Given the description of an element on the screen output the (x, y) to click on. 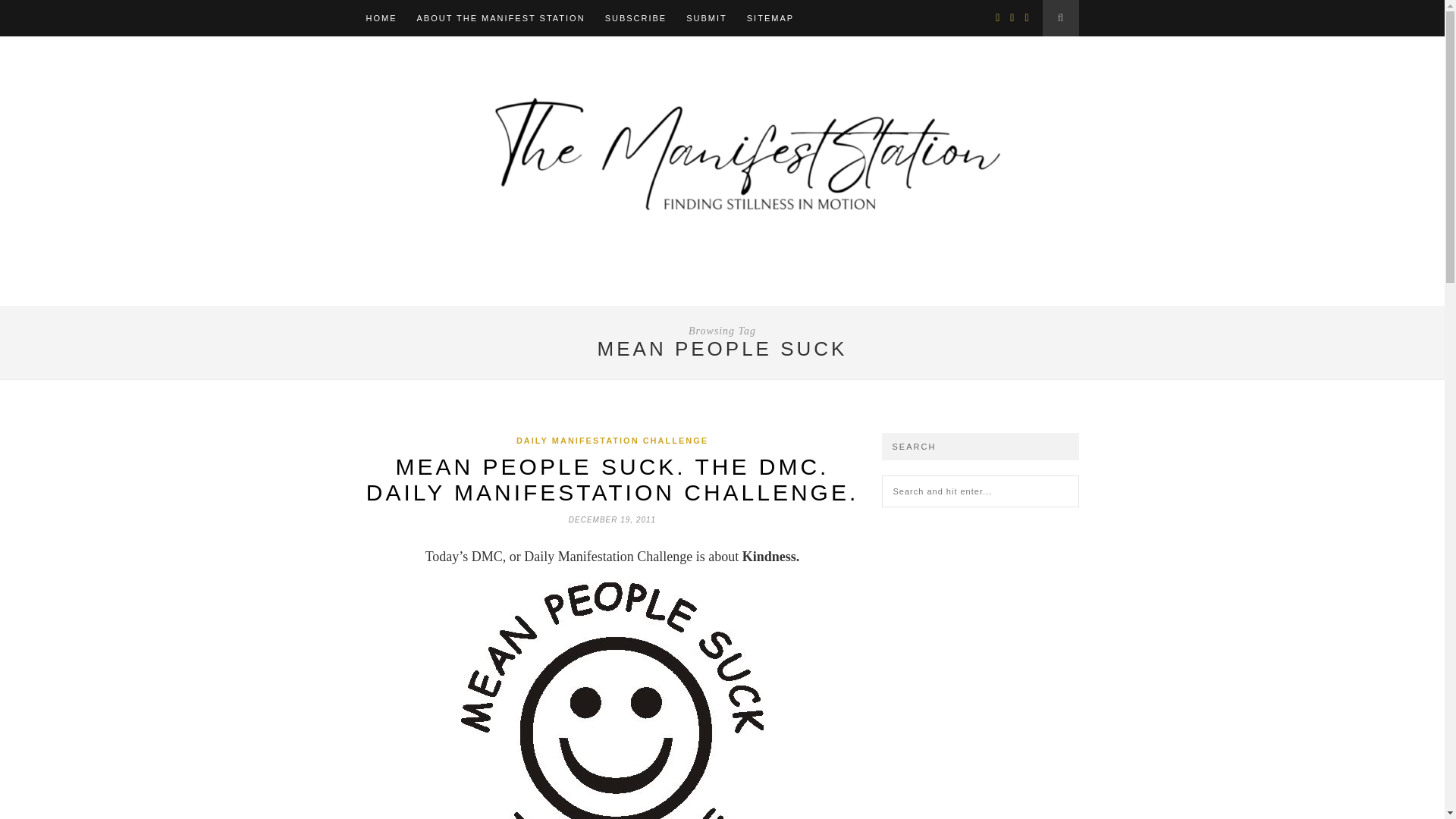
SUBMIT (705, 18)
ABOUT THE MANIFEST STATION (500, 18)
DAILY MANIFESTATION CHALLENGE (611, 440)
SITEMAP (769, 18)
MEAN PEOPLE SUCK. THE DMC. DAILY MANIFESTATION CHALLENGE. (612, 479)
SUBSCRIBE (635, 18)
View all posts in Daily Manifestation Challenge (611, 440)
mean-people-suck (611, 700)
HOME (380, 18)
